Given the description of an element on the screen output the (x, y) to click on. 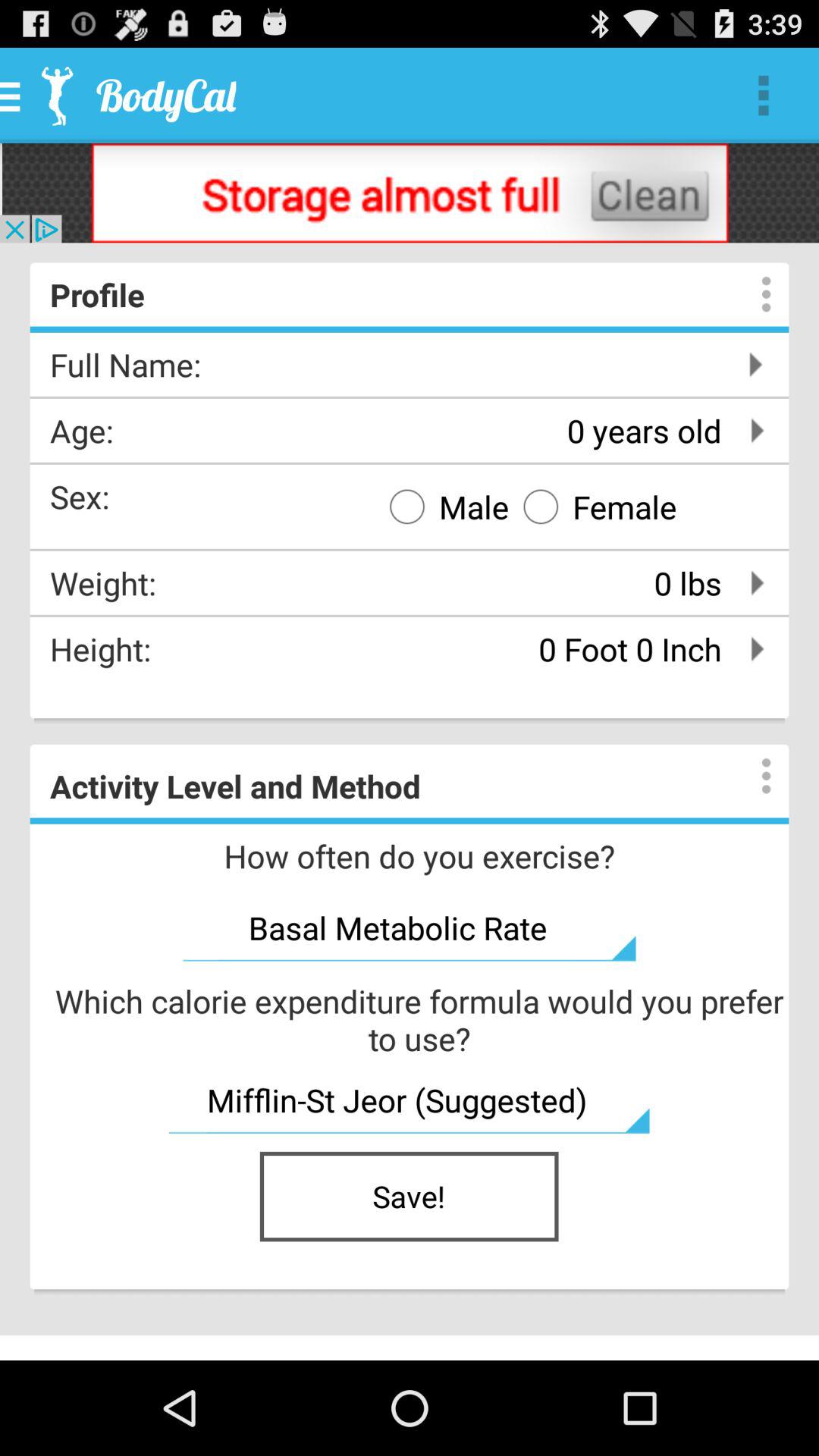
parameter button (750, 776)
